Given the description of an element on the screen output the (x, y) to click on. 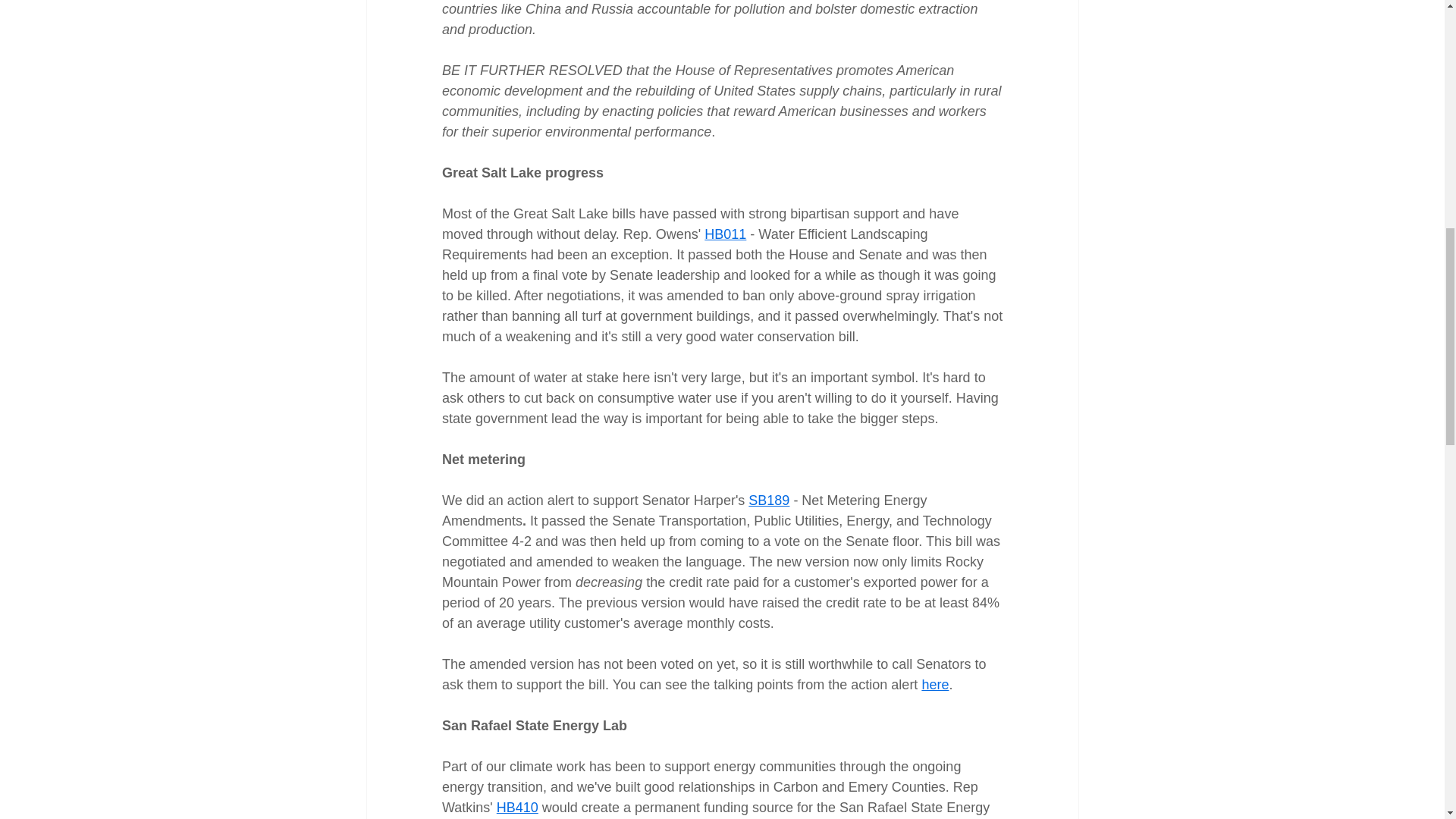
HB410 (516, 807)
SB189 (768, 500)
HB011 (724, 233)
here (935, 684)
